Given the description of an element on the screen output the (x, y) to click on. 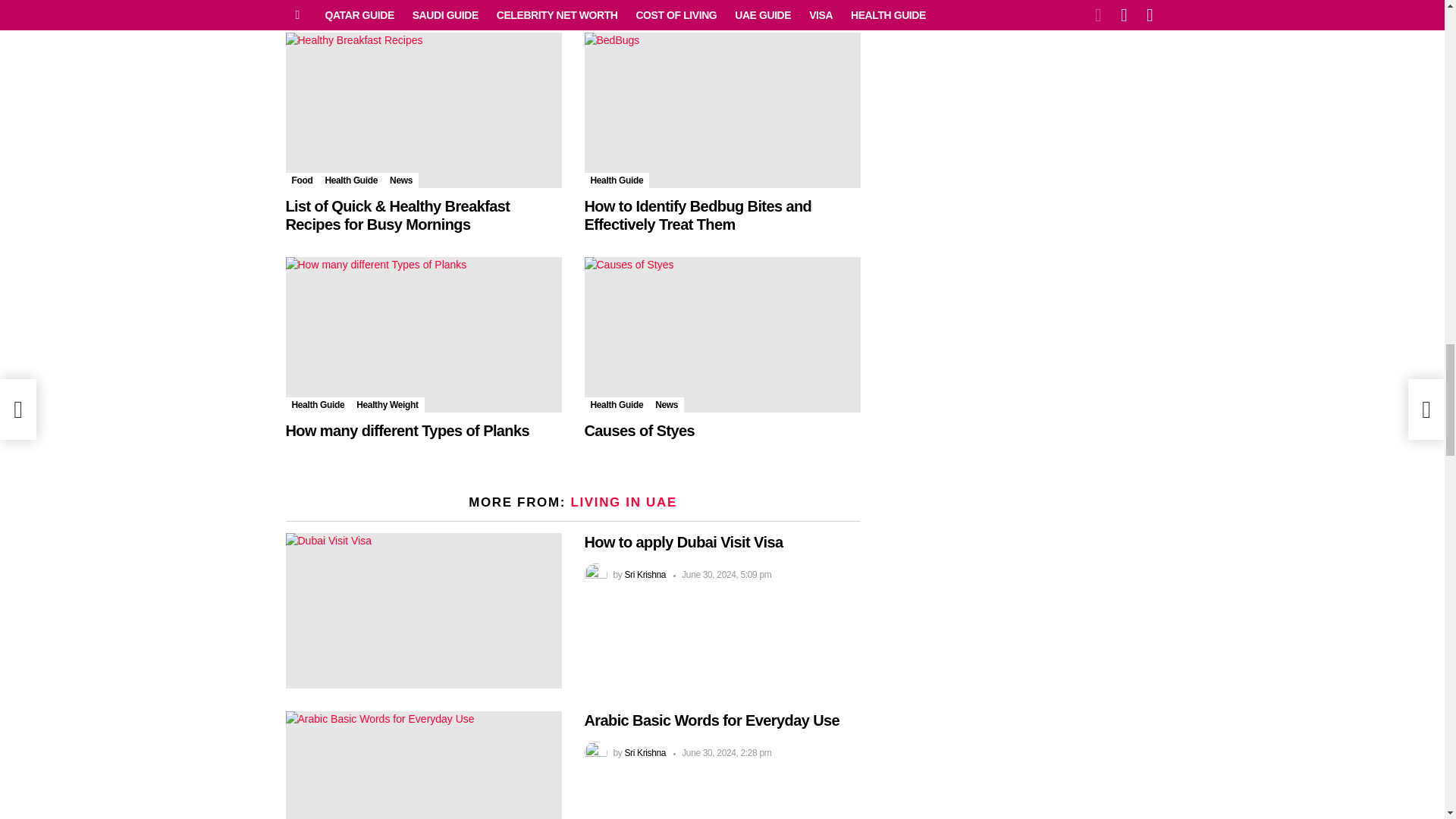
How many different Types of Planks (422, 334)
Causes of Styes (721, 334)
Posts by Sri Krishna (644, 752)
How to apply Dubai Visit Visa (422, 610)
Arabic Basic Words for Everyday Use (422, 765)
How to Identify Bedbug Bites and Effectively Treat Them (721, 110)
Posts by Sri Krishna (644, 574)
